Given the description of an element on the screen output the (x, y) to click on. 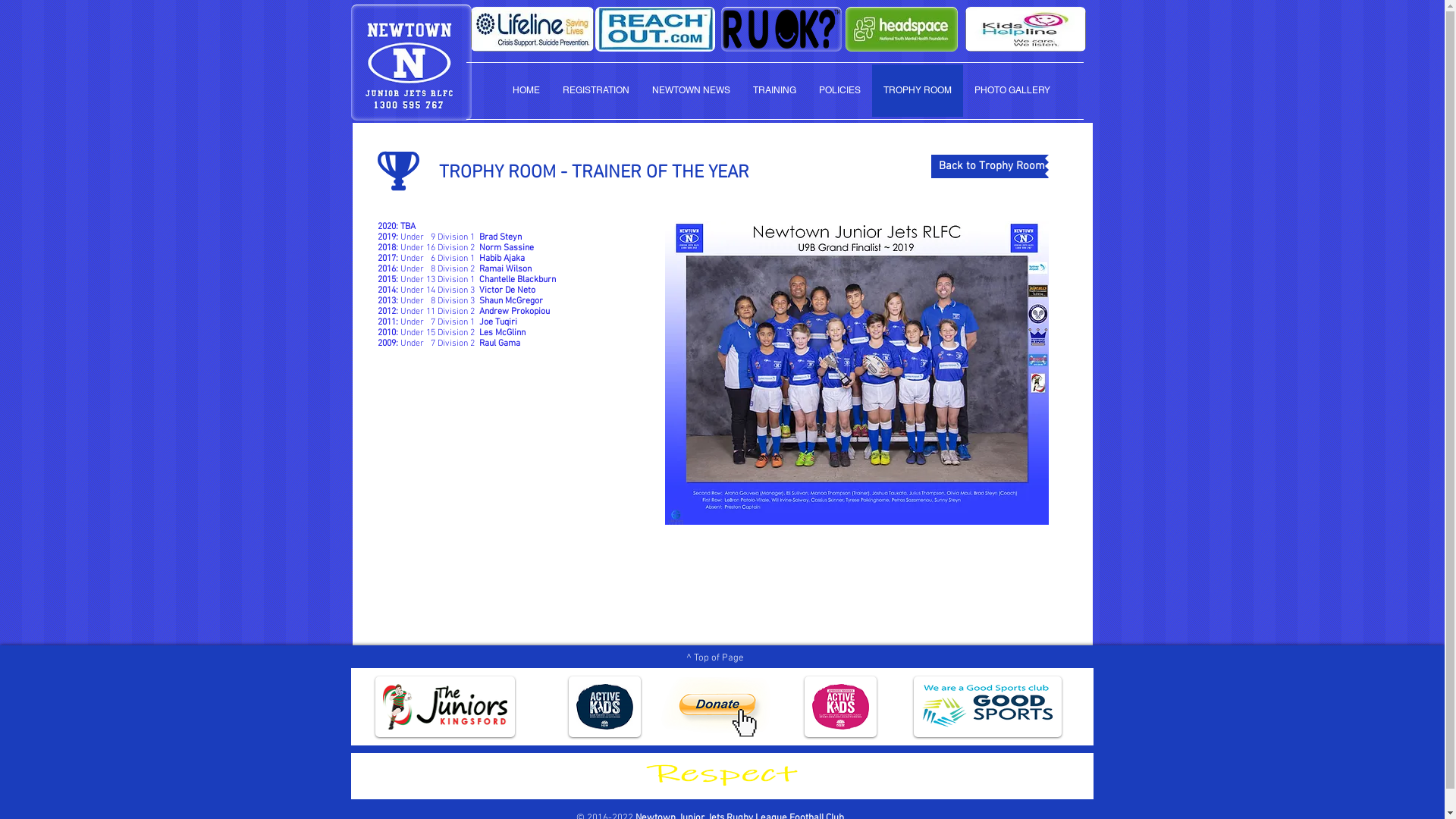
REGISTRATION Element type: text (595, 90)
good sports club.png Element type: hover (839, 706)
Back to Trophy Room Element type: text (987, 166)
ruok-logo.png Element type: hover (780, 28)
good sports club.png Element type: hover (604, 706)
POLICIES Element type: text (838, 90)
headspace.jpg Element type: hover (900, 28)
reach-out.jpg Element type: hover (654, 28)
TRAINING Element type: text (774, 90)
NEWTOWN NEWS Element type: text (690, 90)
PHOTO GALLERY Element type: text (1012, 90)
the-juniors.png Element type: hover (444, 706)
newtown-junior-jets-rlfc.png Element type: hover (410, 62)
juniors.jpg Element type: hover (718, 775)
kids-helpline.jpg Element type: hover (1024, 28)
HOME Element type: text (525, 90)
lifeline-logo.jpg Element type: hover (531, 28)
TROPHY ROOM Element type: text (917, 90)
^ Top of Page Element type: text (714, 658)
good sports club.png Element type: hover (986, 706)
